Given the description of an element on the screen output the (x, y) to click on. 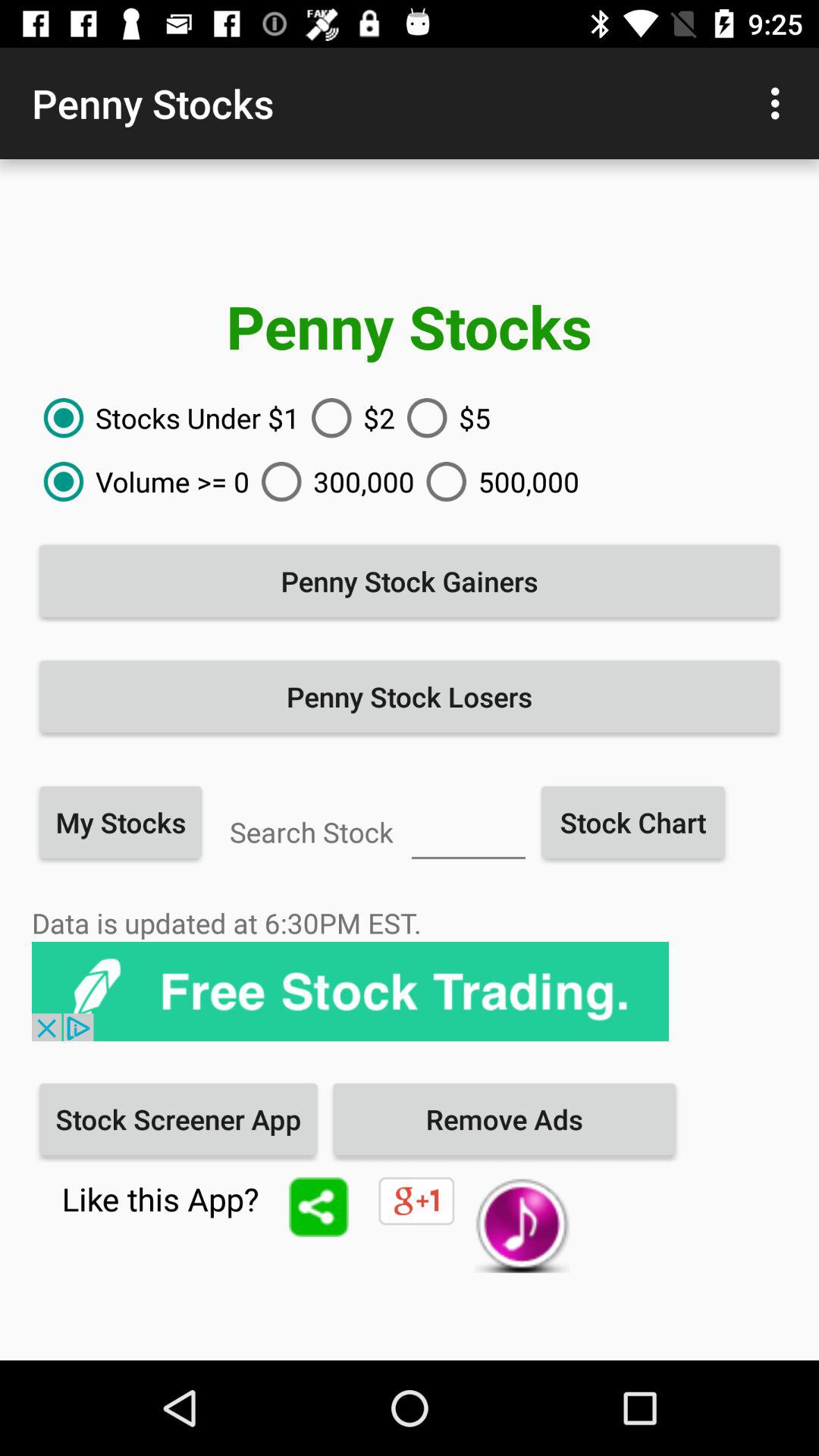
choose the item next to $2 icon (165, 417)
